Given the description of an element on the screen output the (x, y) to click on. 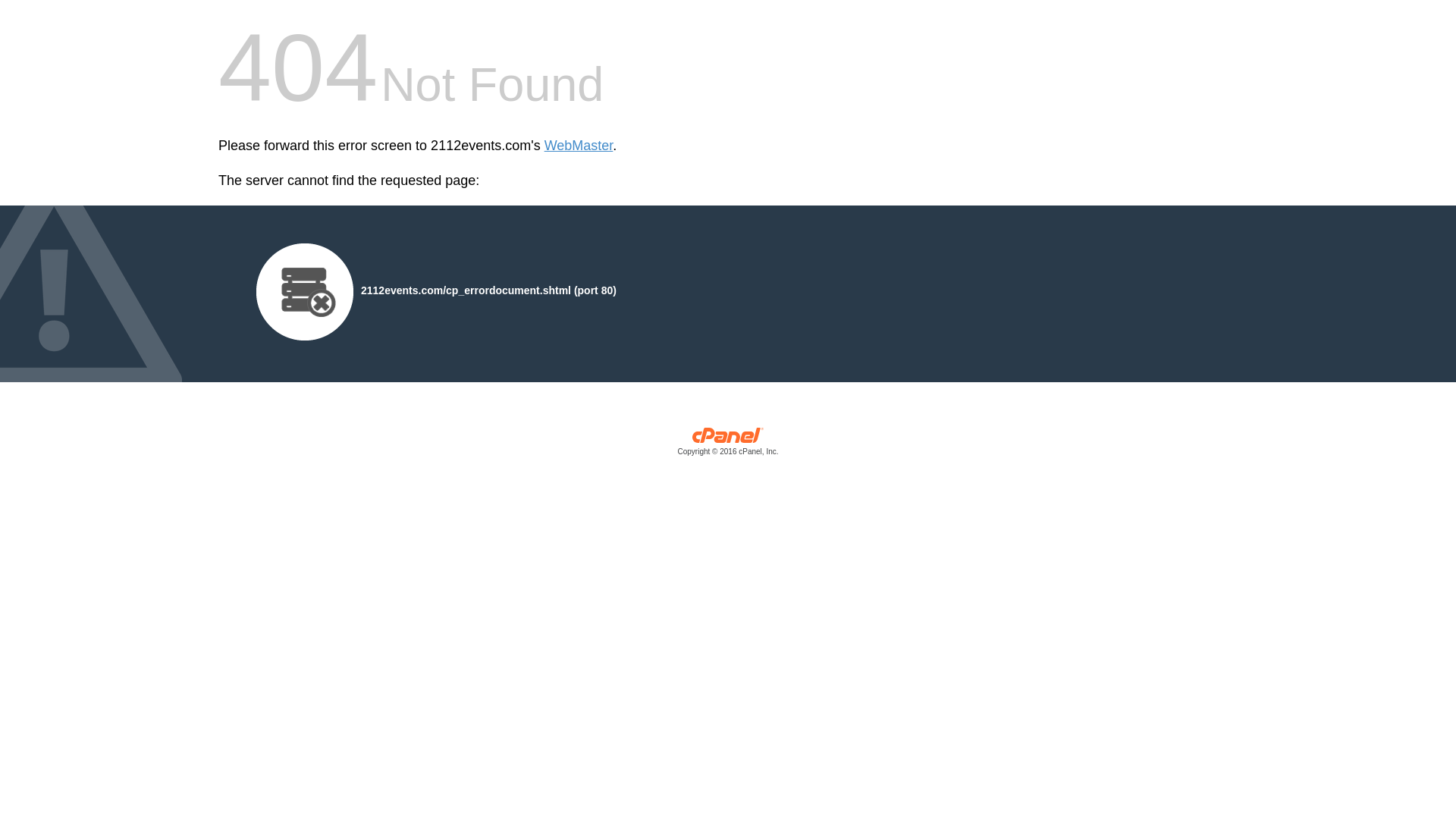
WebMaster Element type: text (578, 145)
